Given the description of an element on the screen output the (x, y) to click on. 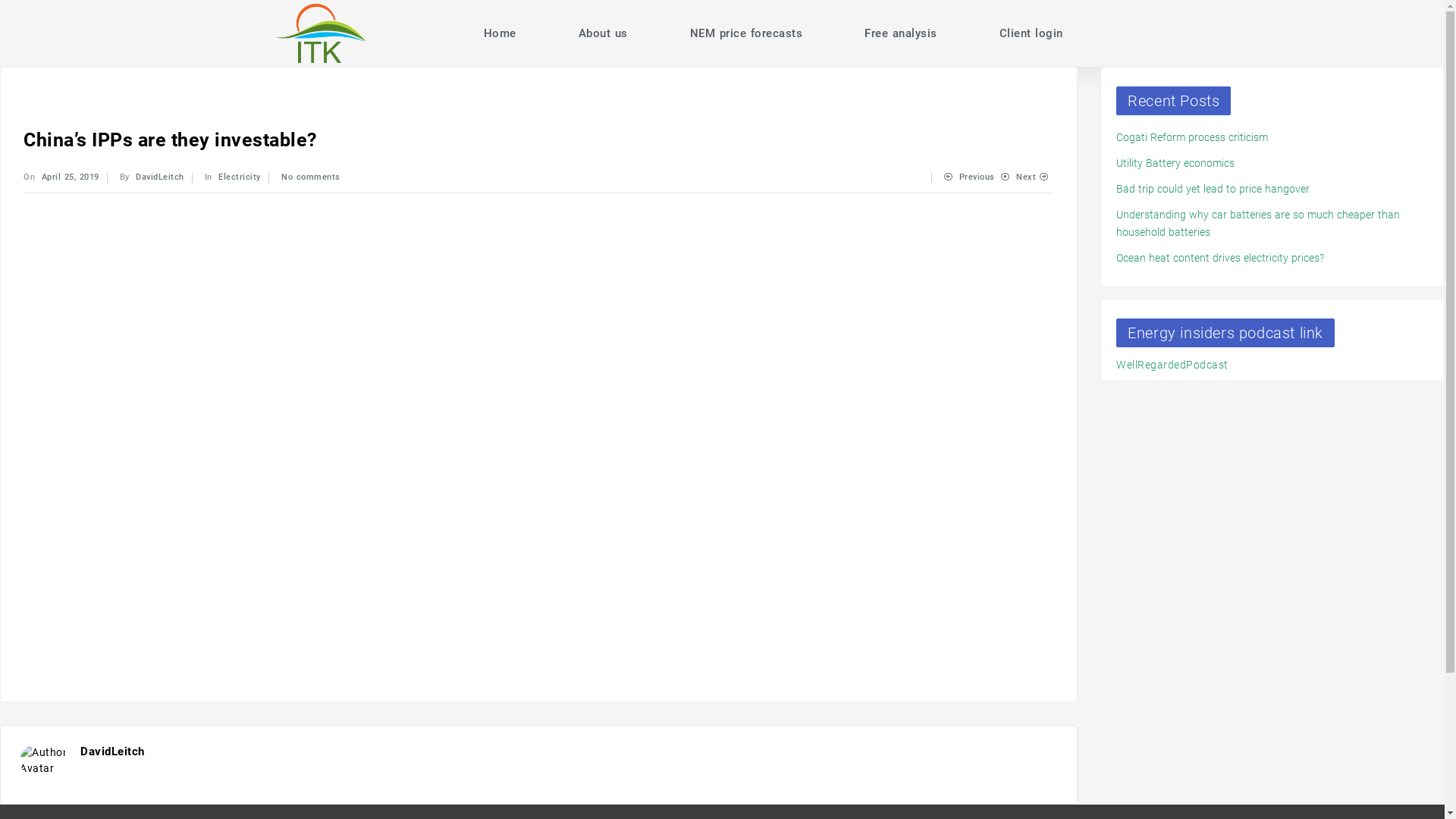
Ocean heat content drives electricity prices? Element type: text (1220, 257)
NEM price forecasts Element type: text (746, 32)
Home Element type: text (499, 32)
Utility Battery economics Element type: text (1175, 162)
WellRegardedPodcast Element type: text (1172, 364)
DavidLeitch Element type: text (159, 177)
Free analysis Element type: text (900, 32)
April 25, 2019 Element type: text (69, 177)
Bad trip could yet lead to price hangover Element type: text (1212, 188)
Cogati Reform process criticism Element type: text (1191, 137)
Next Element type: text (1033, 177)
About us Element type: text (602, 32)
Client login Element type: text (1031, 32)
Electricity Element type: text (239, 177)
Previous Element type: text (969, 177)
No comments Element type: text (310, 177)
